Given the description of an element on the screen output the (x, y) to click on. 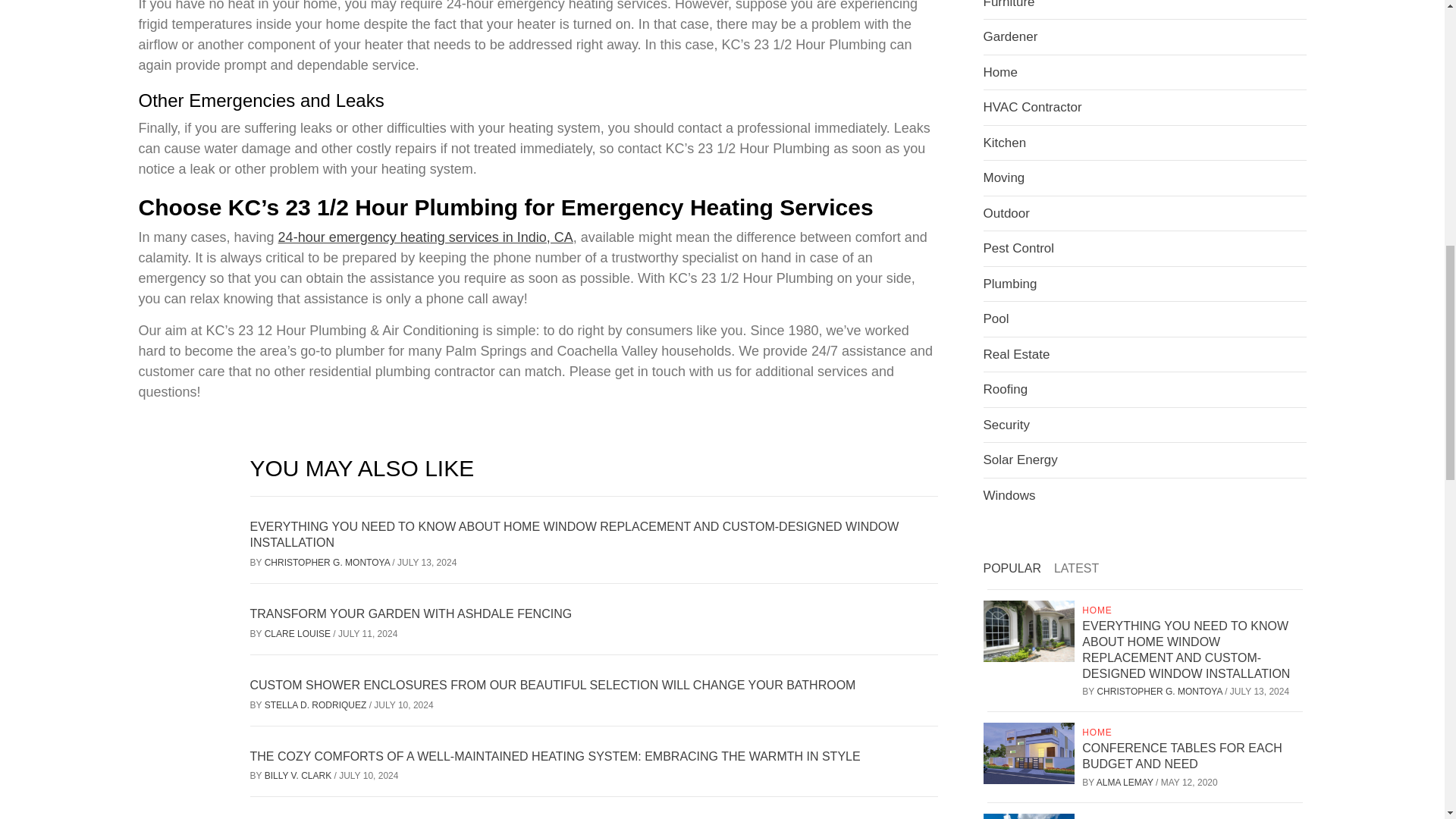
24-hour emergency heating services in Indio, CA (425, 237)
CHRISTOPHER G. MONTOYA (328, 562)
CLARE LOUISE (298, 633)
TRANSFORM YOUR GARDEN WITH ASHDALE FENCING (411, 613)
